Given the description of an element on the screen output the (x, y) to click on. 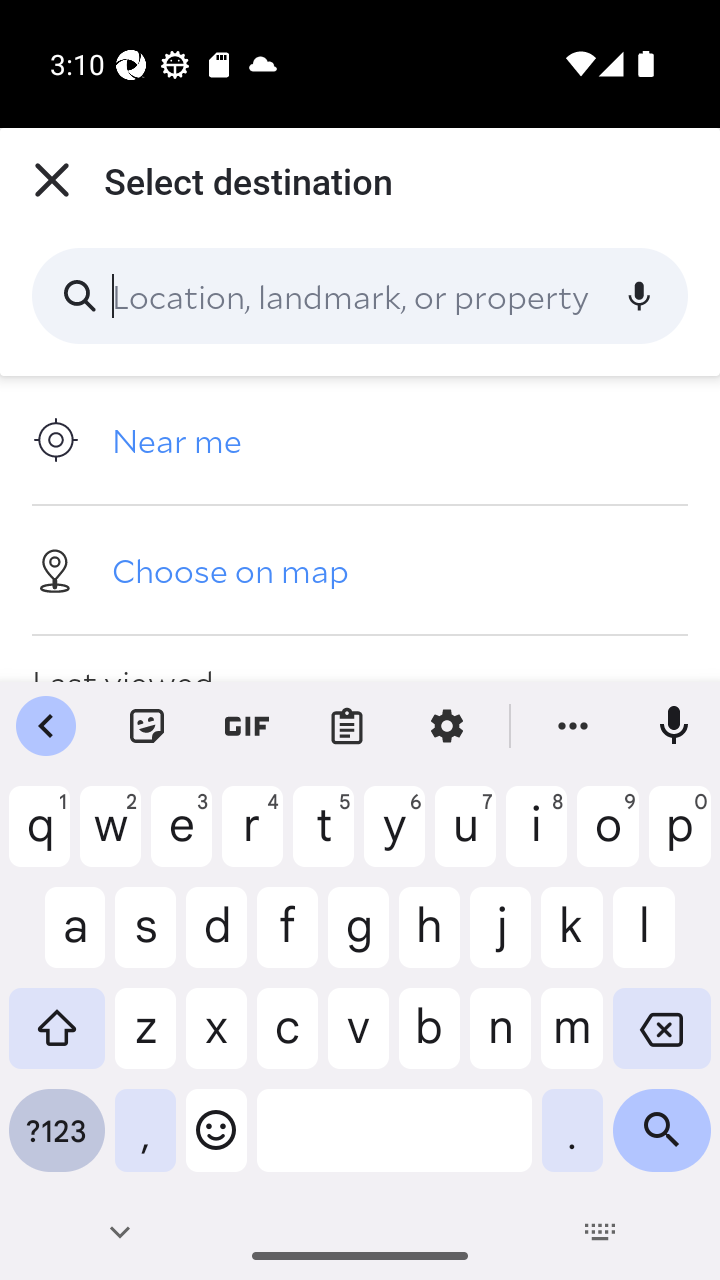
Location, landmark, or property (359, 296)
Near me (360, 440)
Choose on map (360, 569)
